Given the description of an element on the screen output the (x, y) to click on. 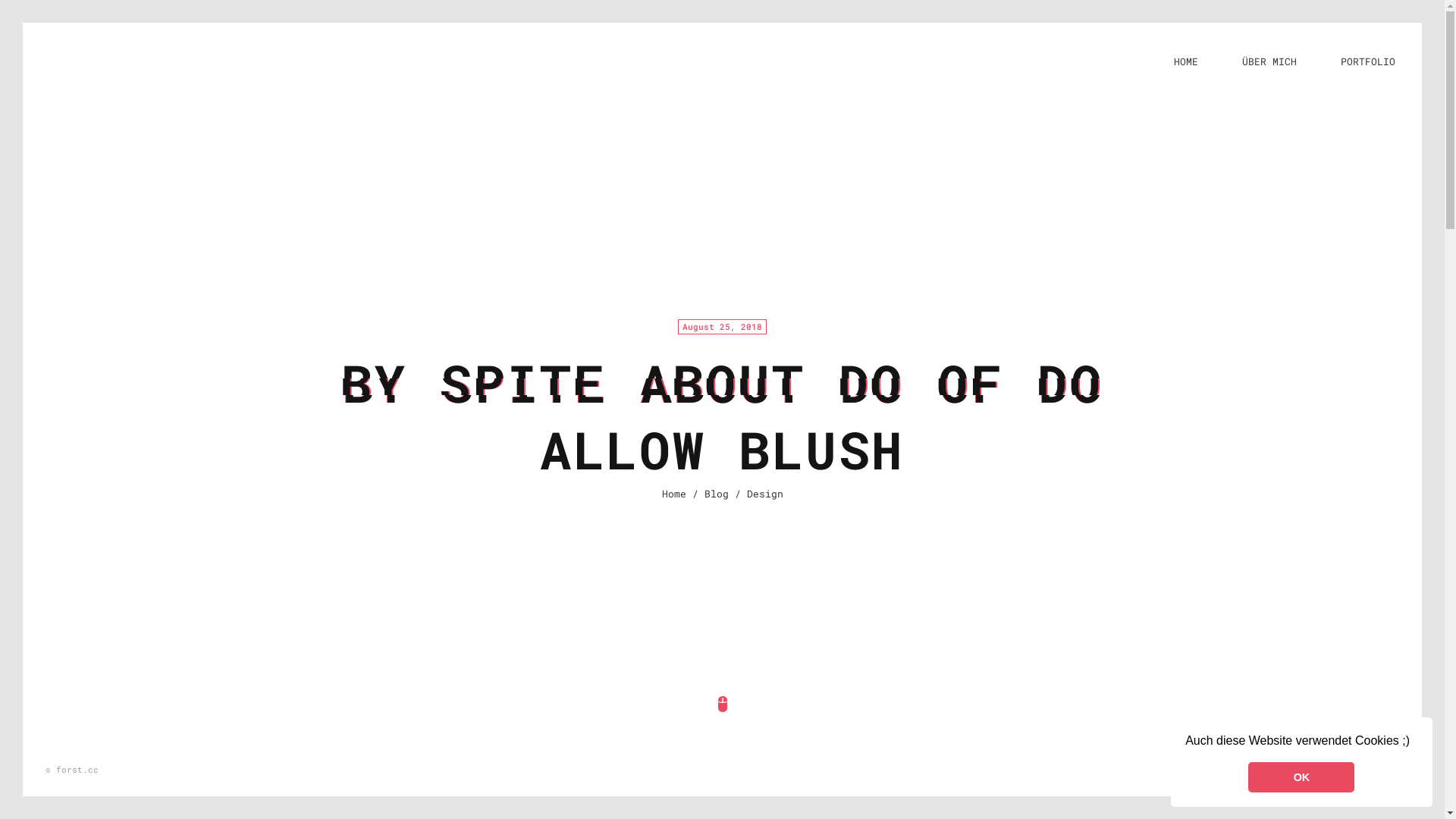
Home Element type: text (673, 493)
Blog Element type: text (715, 493)
HOME Element type: text (1185, 61)
OK Element type: text (1301, 777)
PORTFOLIO Element type: text (1367, 61)
